Given the description of an element on the screen output the (x, y) to click on. 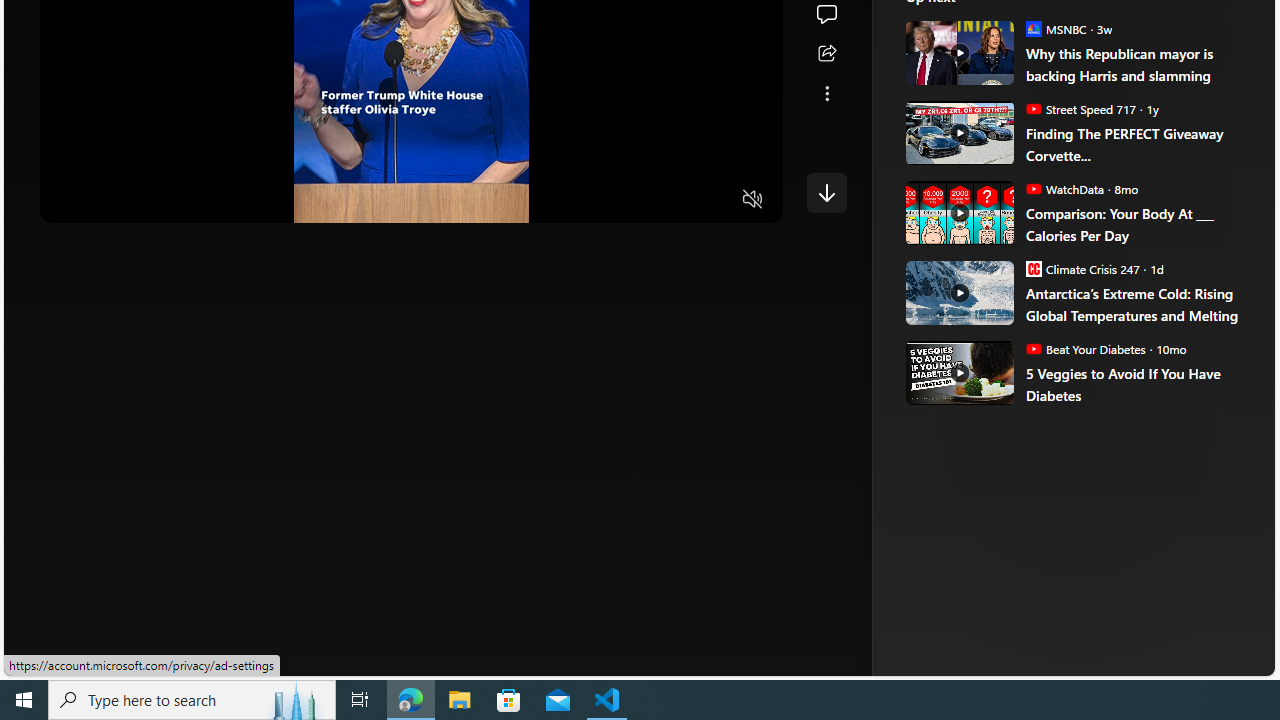
Fullscreen (714, 200)
Comparison: Your Body At ___ Calories Per Day (1136, 224)
Captions (675, 200)
WatchData (1033, 188)
5 Veggies to Avoid If You Have Diabetes (958, 371)
Unmute (753, 200)
MSNBC MSNBC (1055, 28)
Quality Settings (634, 200)
Beat Your Diabetes Beat Your Diabetes (1085, 348)
Climate Crisis 247 Climate Crisis 247 (1082, 268)
